Given the description of an element on the screen output the (x, y) to click on. 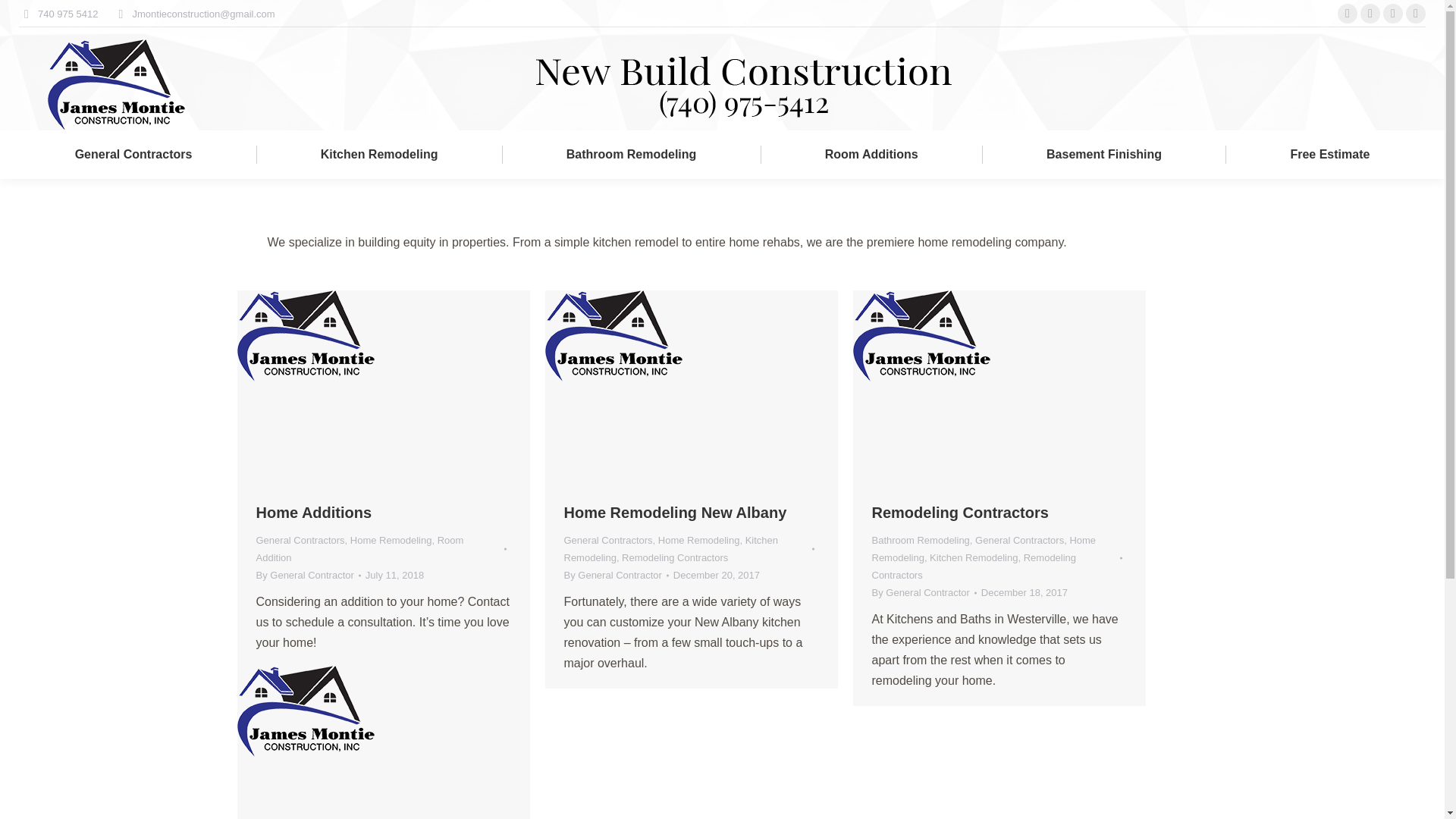
X page opens in new window (1393, 13)
General Contractors (133, 154)
Bathroom Remodeling (630, 154)
Facebook page opens in new window (1347, 13)
Free Estimate (1329, 154)
Pinterest page opens in new window (1415, 13)
Home Additions (314, 512)
Yelp page opens in new window (1369, 13)
X page opens in new window (1393, 13)
Yelp page opens in new window (1369, 13)
Room Additions (871, 154)
Site logo (304, 336)
Basement Finishing (1103, 154)
Kitchen Remodeling (379, 154)
Home Additions (314, 512)
